Given the description of an element on the screen output the (x, y) to click on. 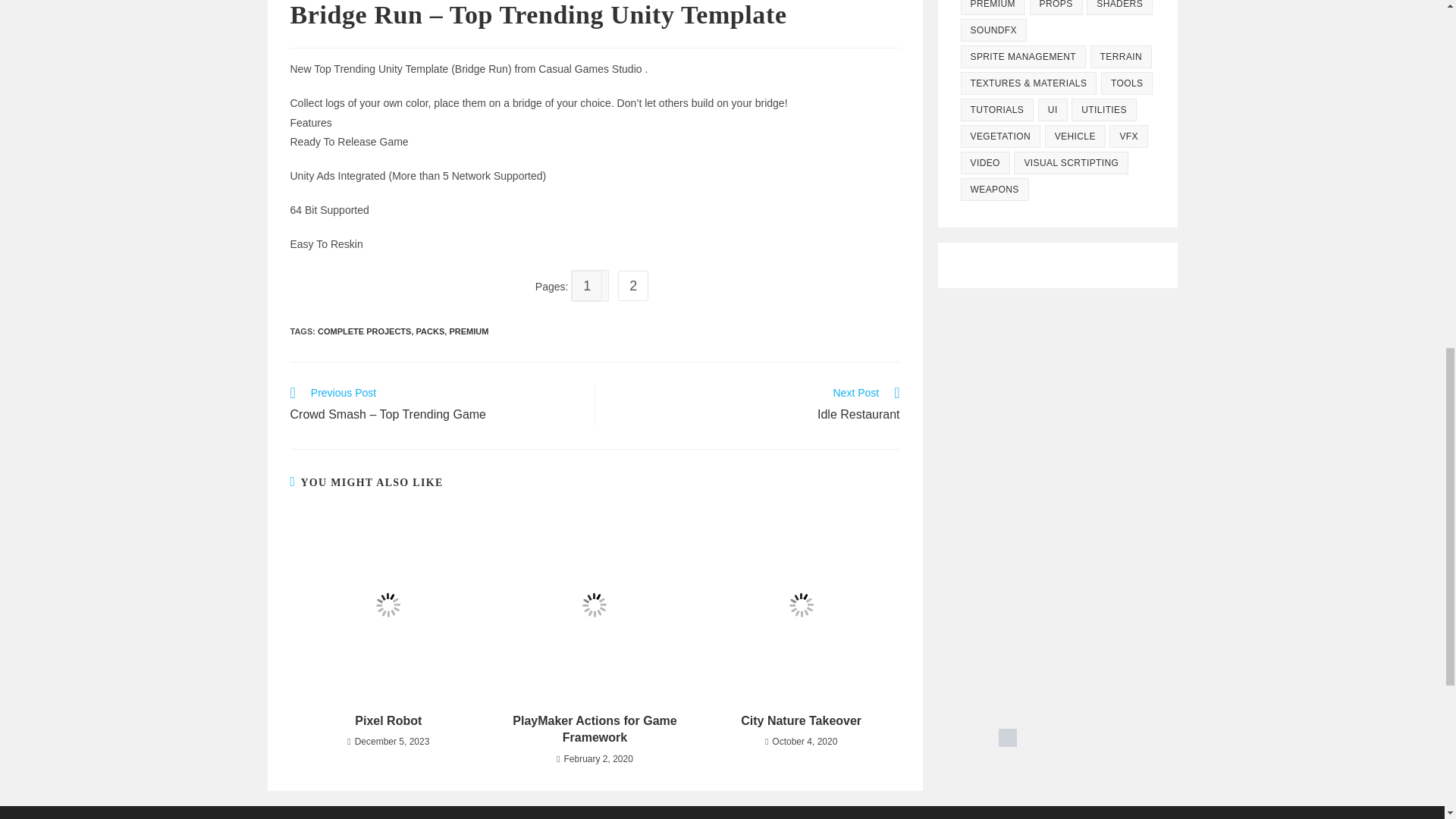
PACKS (430, 329)
City Nature Takeover (801, 720)
PlayMaker Actions for Game Framework (594, 729)
PREMIUM (467, 329)
COMPLETE PROJECTS (363, 329)
Pixel Robot (387, 720)
2 (754, 404)
